Given the description of an element on the screen output the (x, y) to click on. 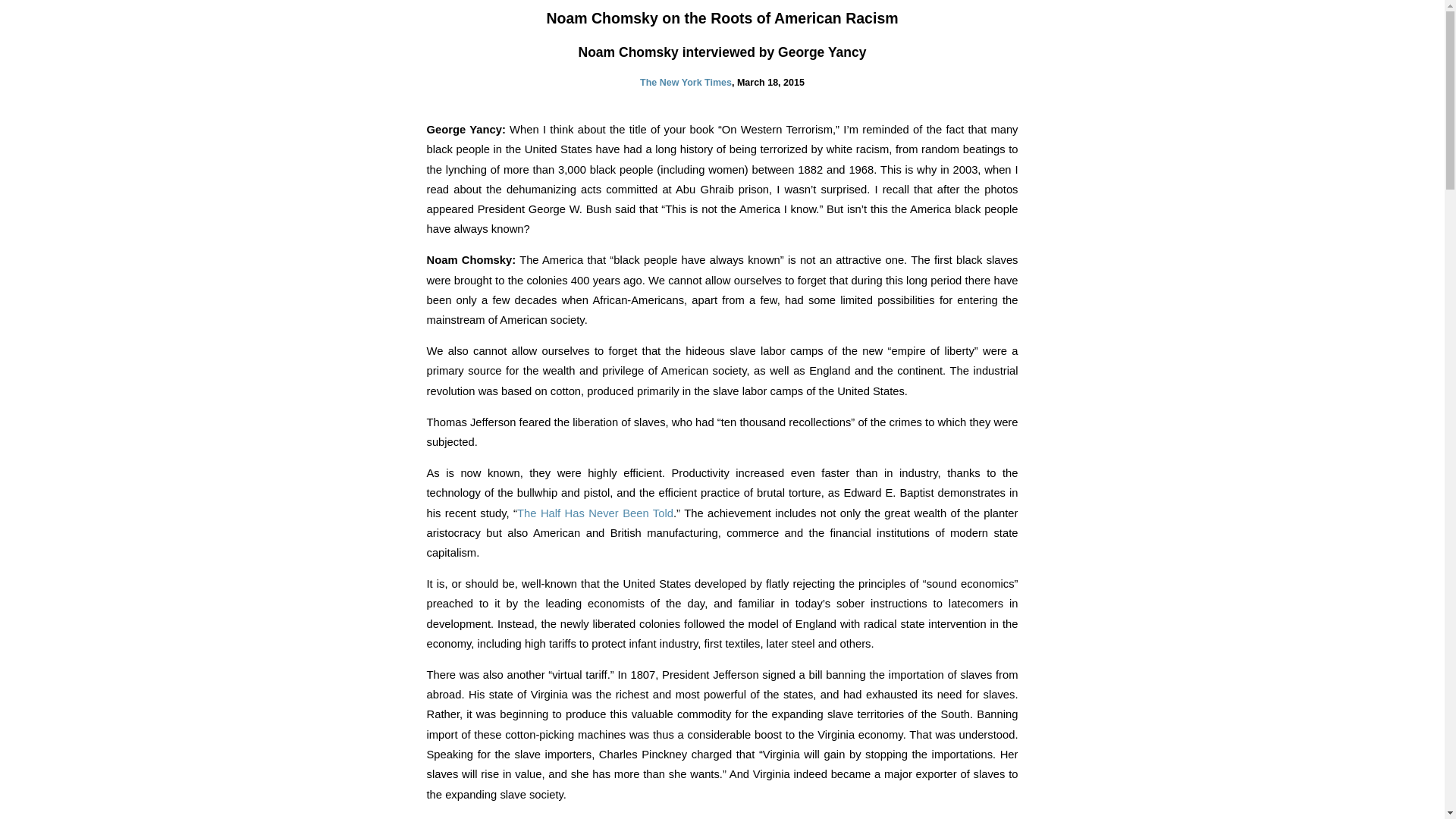
The Half Has Never Been Told (594, 512)
The New York Times (686, 81)
